Given the description of an element on the screen output the (x, y) to click on. 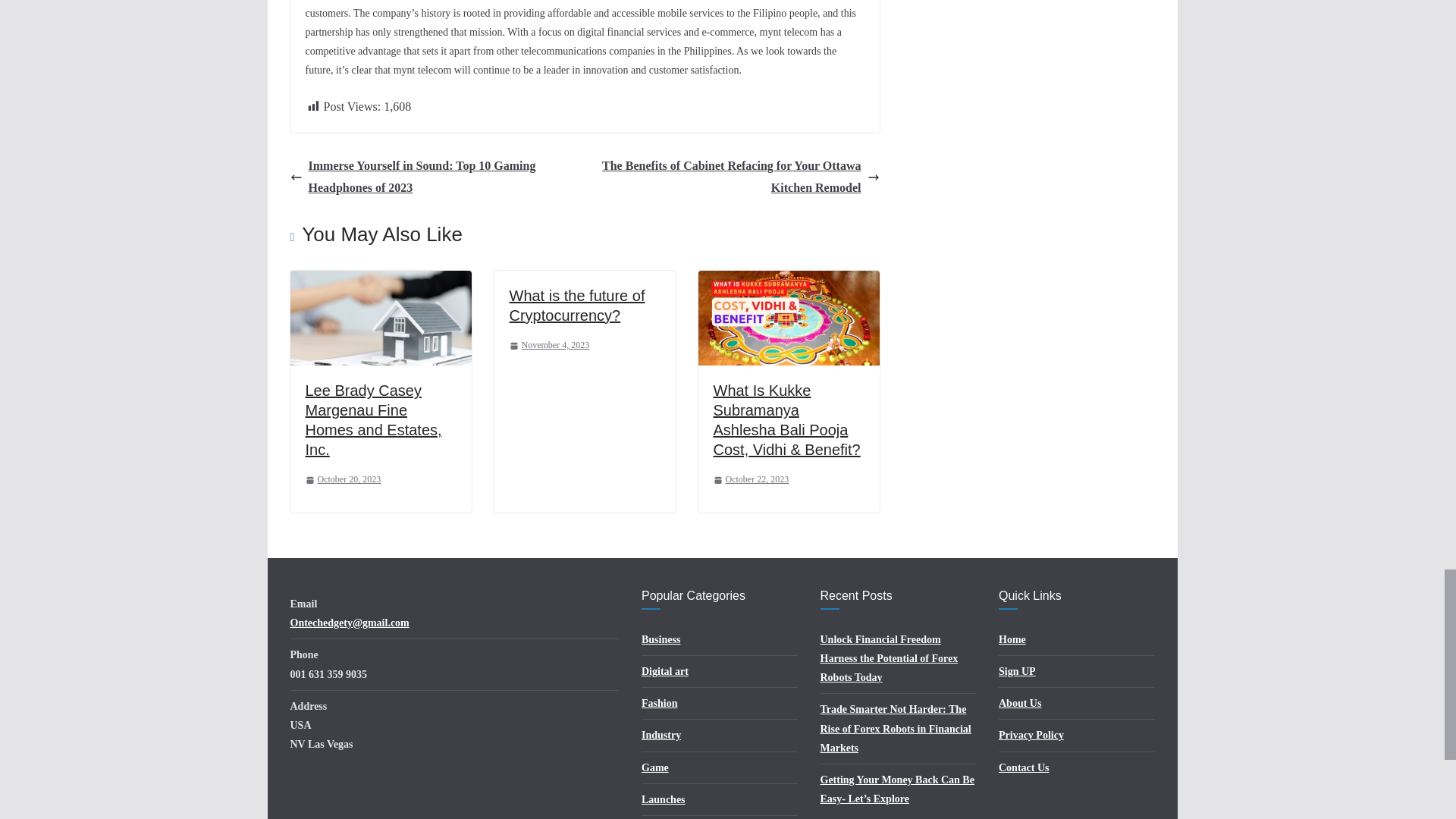
November 4, 2023 (549, 345)
What is the future of Cryptocurrency? (577, 305)
3:20 am (342, 479)
October 20, 2023 (342, 479)
2:16 am (751, 479)
Immerse Yourself in Sound: Top 10 Gaming Headphones of 2023 (432, 177)
Lee Brady Casey Margenau Fine Homes and Estates, Inc. (379, 280)
October 22, 2023 (751, 479)
What is the future of Cryptocurrency? (577, 305)
Lee Brady Casey Margenau Fine Homes and Estates, Inc. (372, 419)
4:17 pm (549, 345)
Lee Brady Casey Margenau Fine Homes and Estates, Inc. (372, 419)
